Given the description of an element on the screen output the (x, y) to click on. 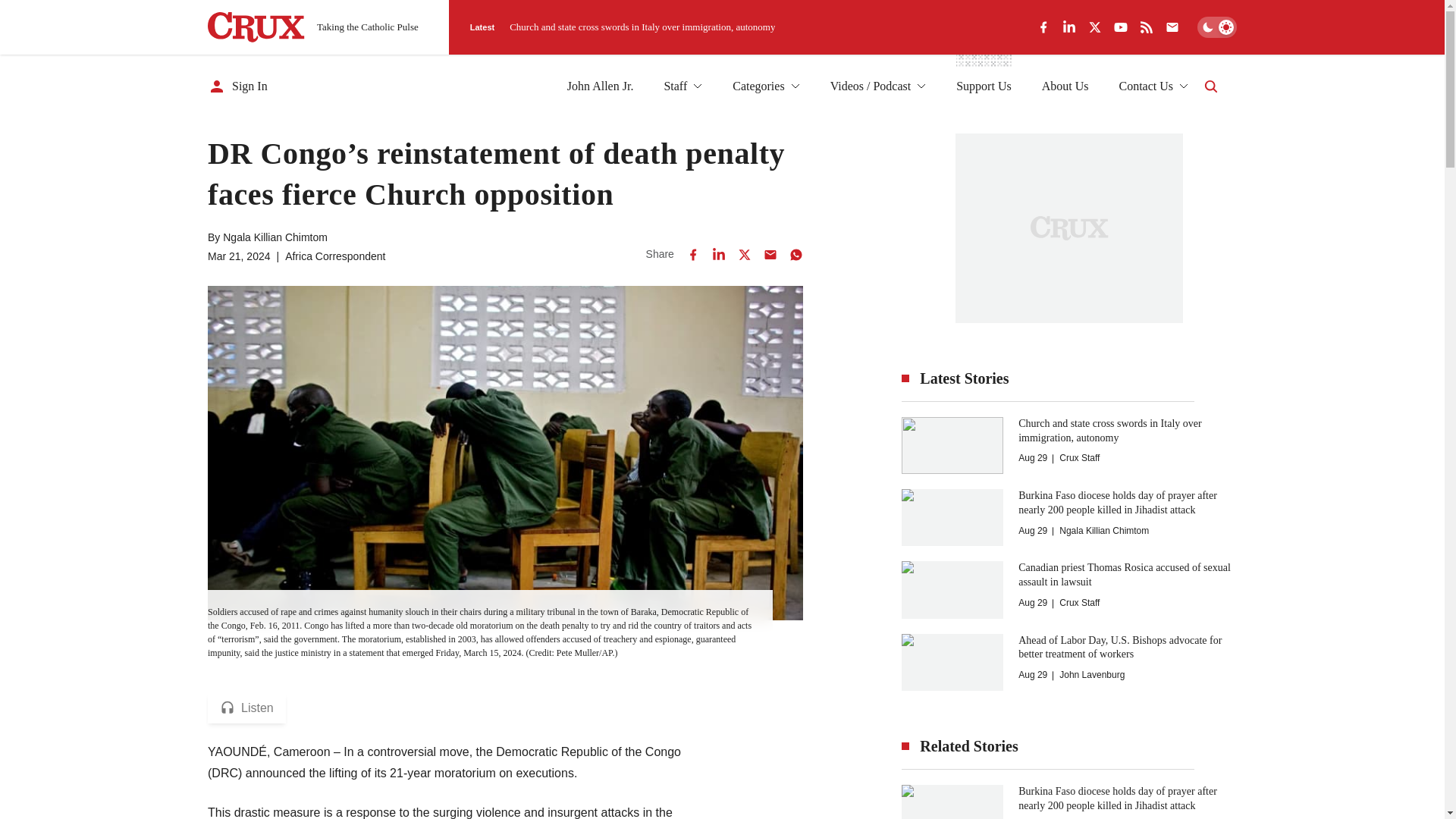
Sign In (237, 85)
John Allen Jr. (600, 85)
About Us (1065, 85)
Staff (682, 85)
Contact Us (1153, 85)
Categories (765, 85)
Support Us (983, 85)
